Given the description of an element on the screen output the (x, y) to click on. 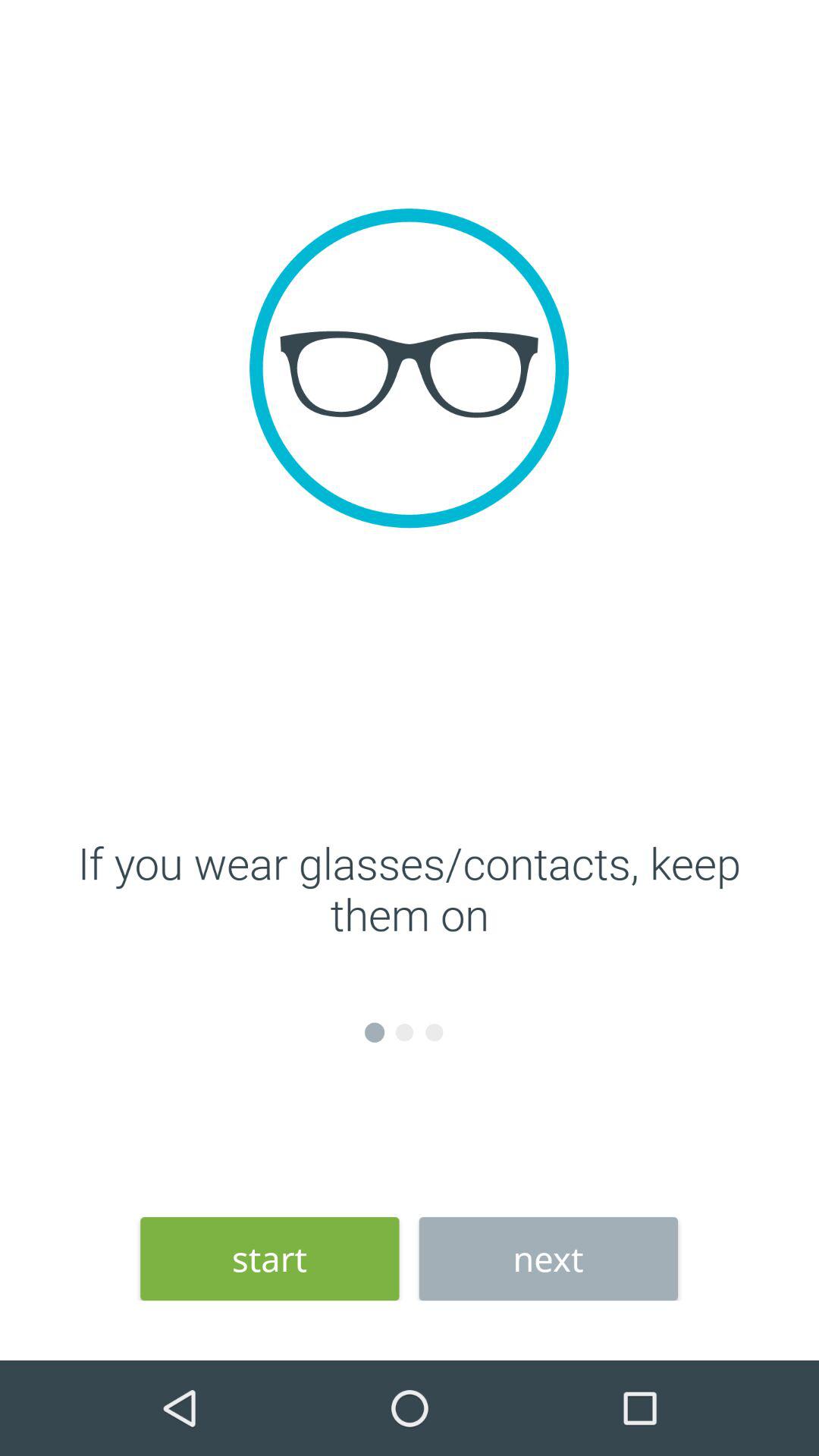
flip to start (269, 1258)
